Given the description of an element on the screen output the (x, y) to click on. 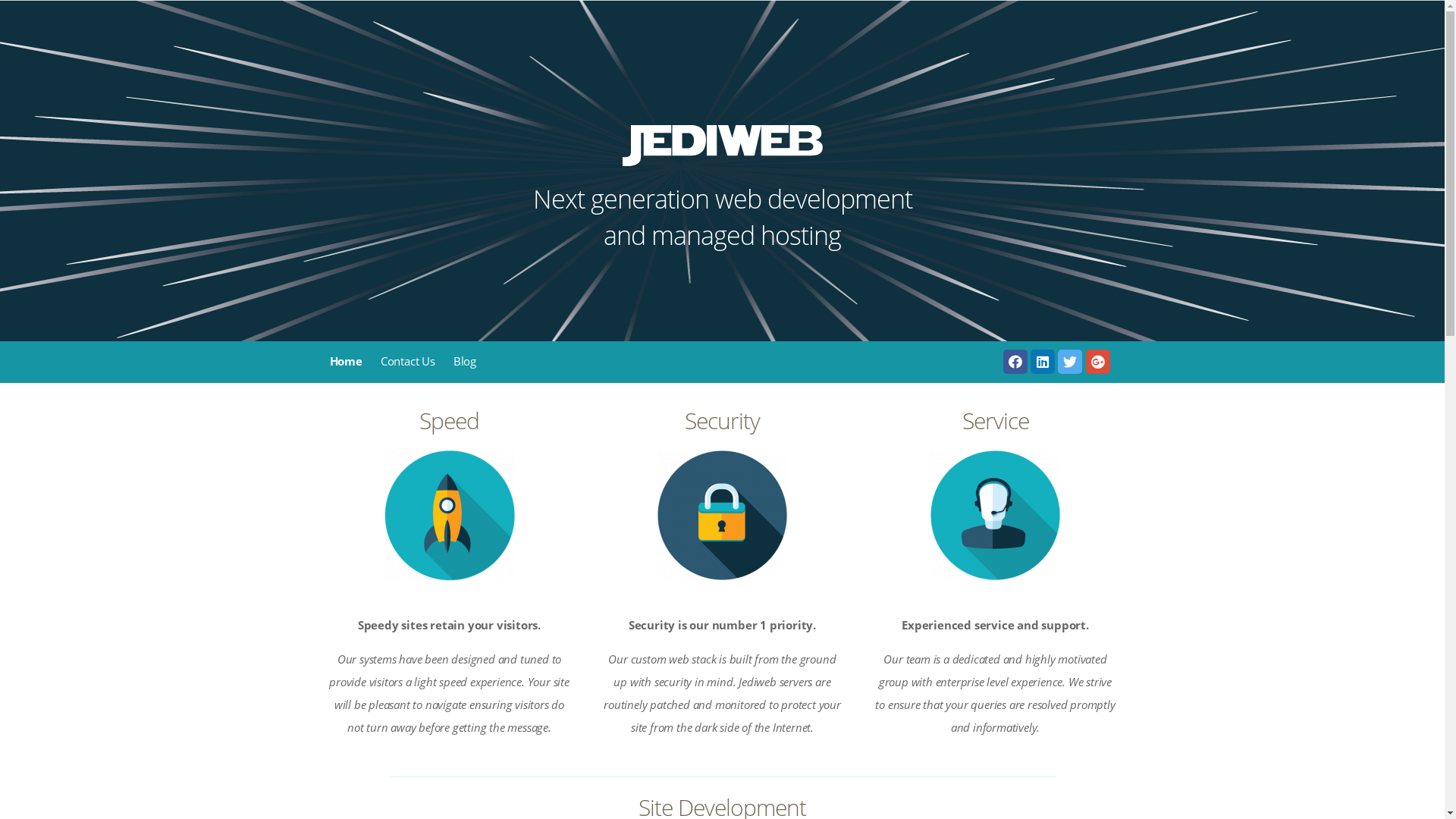
Contact Us Element type: text (407, 360)
Google+ Element type: hover (1097, 361)
LinkedIn Element type: hover (1042, 361)
Blog Element type: text (464, 360)
Home Element type: text (345, 360)
Facebook Element type: hover (1014, 361)
Twitter Element type: hover (1069, 361)
